Given the description of an element on the screen output the (x, y) to click on. 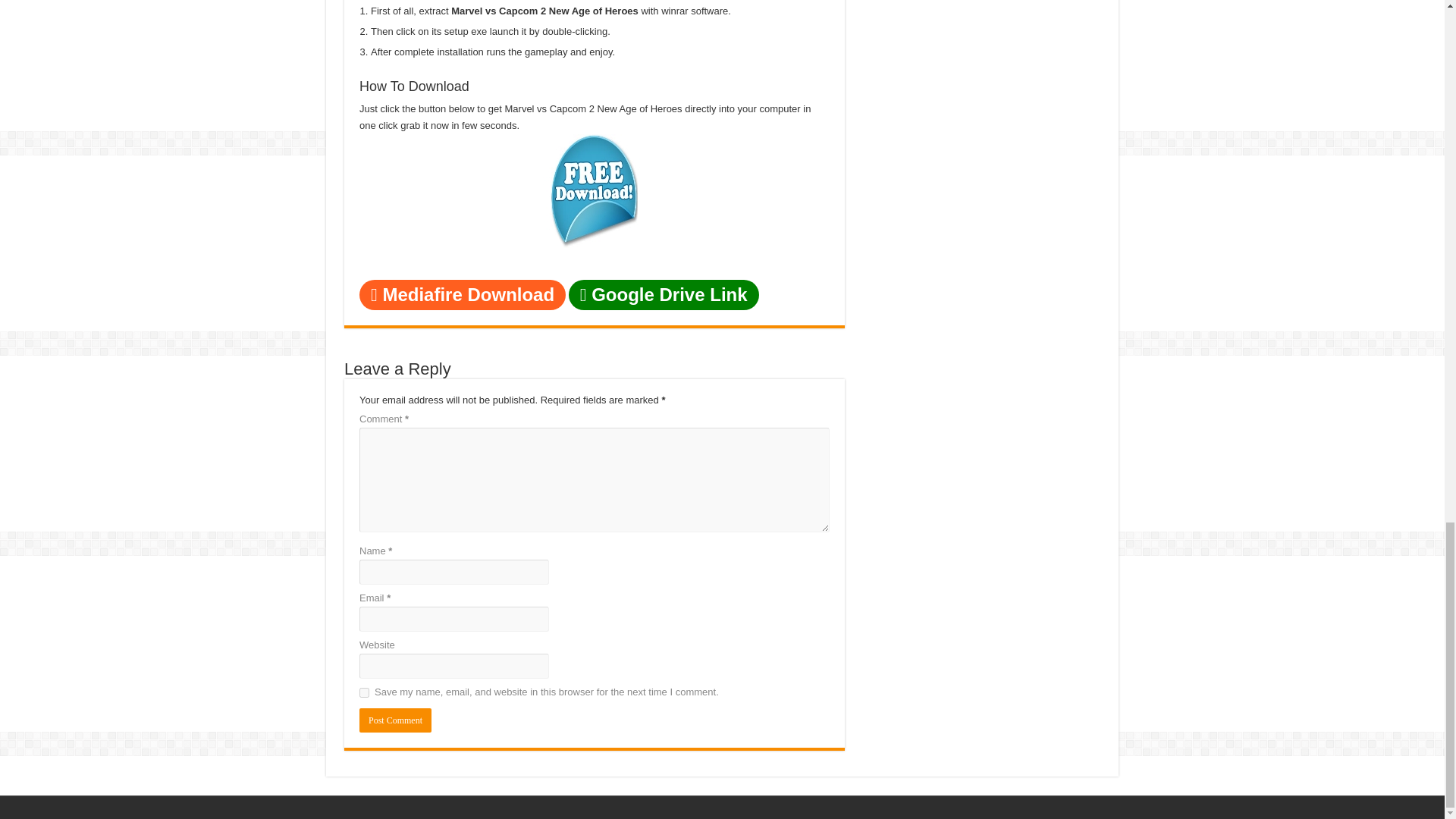
Post Comment (394, 720)
yes (364, 692)
Mediafire Download (462, 295)
Post Comment (394, 720)
Mediafire Download Google Drive Link (558, 293)
Google Drive Link (663, 295)
